Given the description of an element on the screen output the (x, y) to click on. 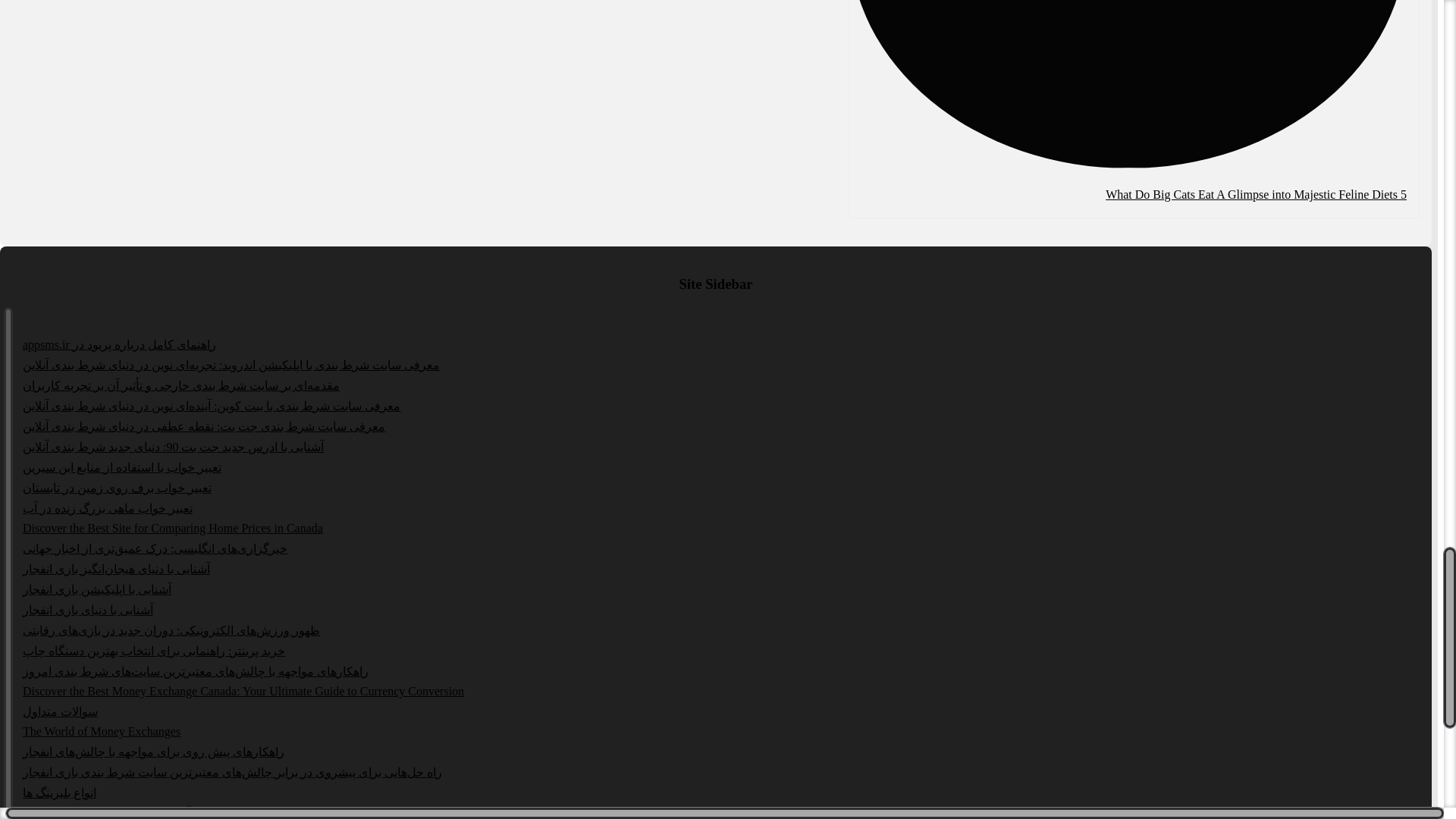
What Do Big Cats Eat A Glimpse into Majestic Feline Diets 5 (1127, 85)
The World of Money Exchanges (101, 731)
What Do Big Cats Eat A Glimpse into Majestic Feline Diets 5 (1255, 194)
Discover the Best Site for Comparing Home Prices in Canada (173, 527)
What Do Big Cats Eat A Glimpse into Majestic Feline Diets 5 (1255, 194)
